Given the description of an element on the screen output the (x, y) to click on. 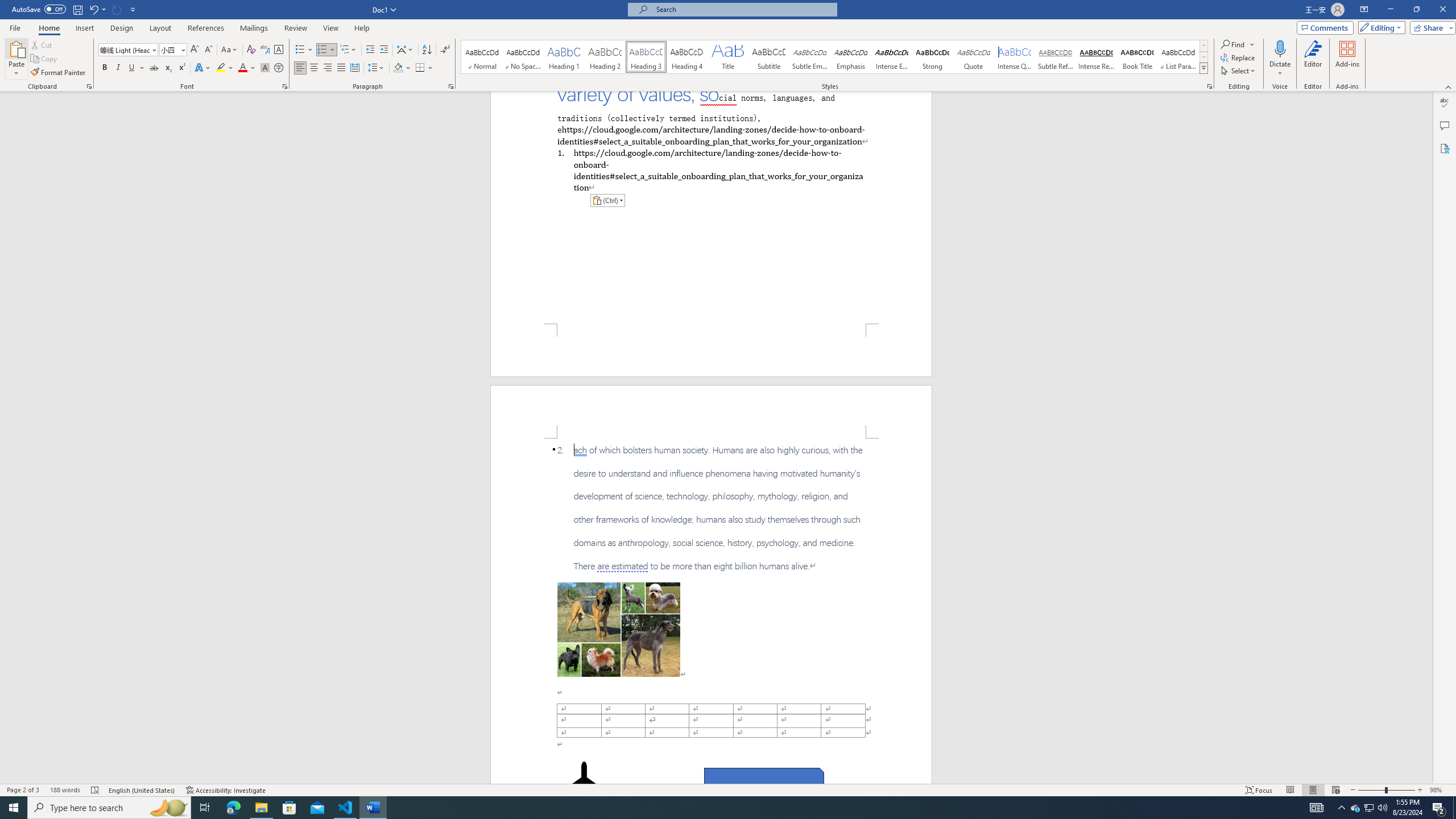
Heading 1 (564, 56)
Text Effects and Typography (202, 67)
Spelling and Grammar Check Errors (94, 790)
Character Border (278, 49)
Increase Indent (383, 49)
Intense Reference (1095, 56)
Sort... (426, 49)
Change Case (229, 49)
2. (710, 507)
Cut (42, 44)
